Given the description of an element on the screen output the (x, y) to click on. 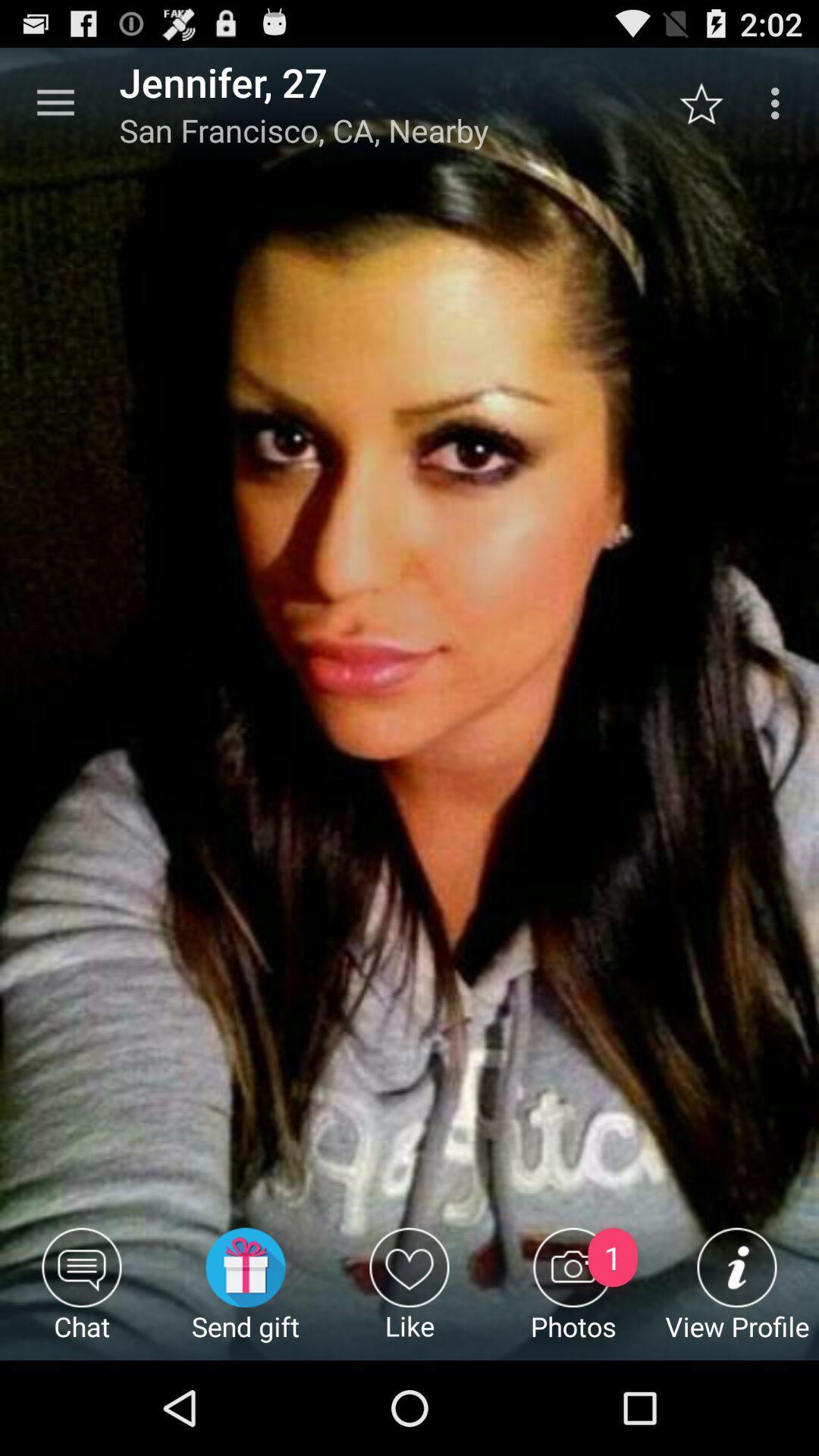
press item above view profile icon (709, 103)
